Given the description of an element on the screen output the (x, y) to click on. 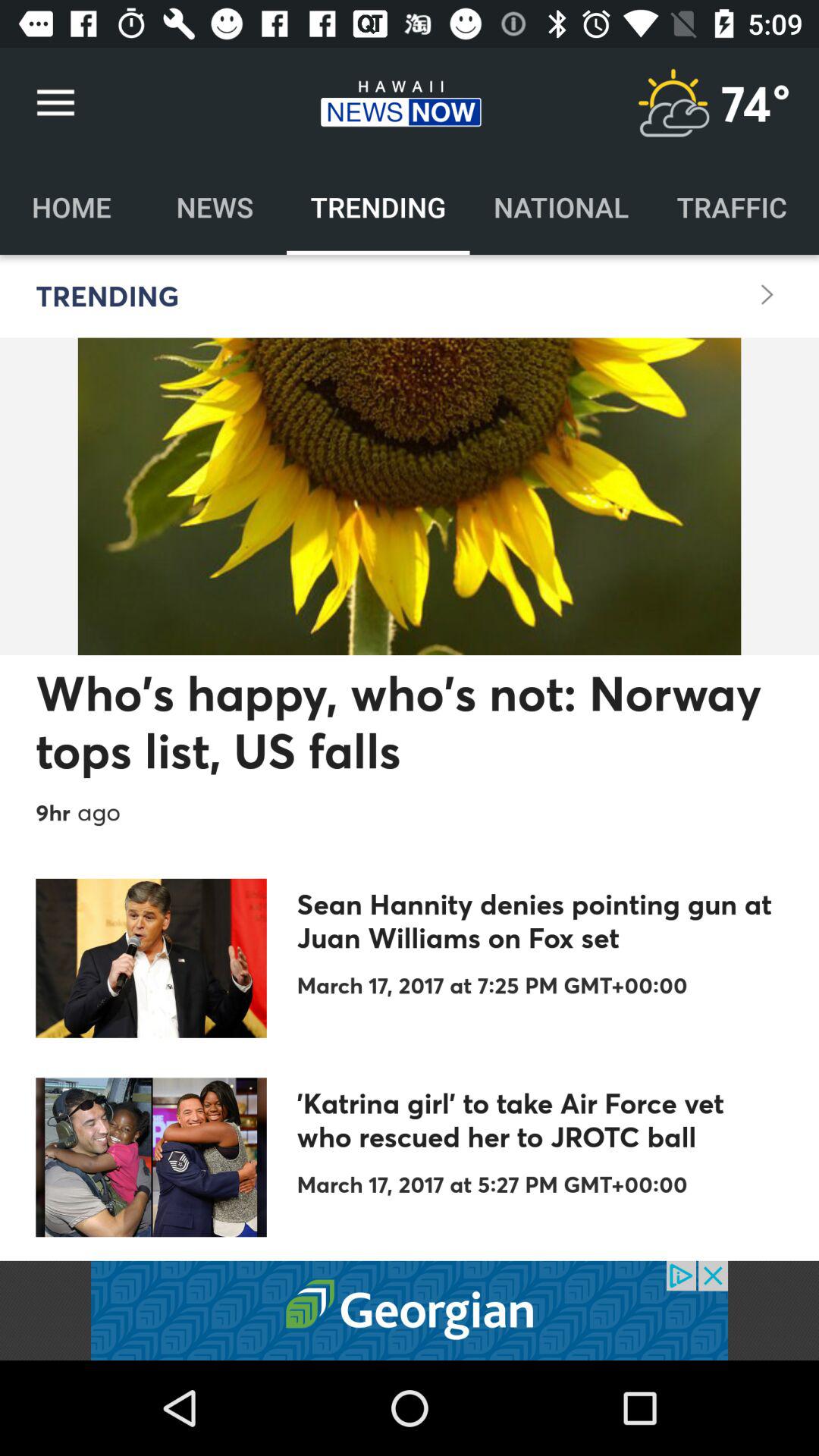
open an advertisement (409, 1310)
